Given the description of an element on the screen output the (x, y) to click on. 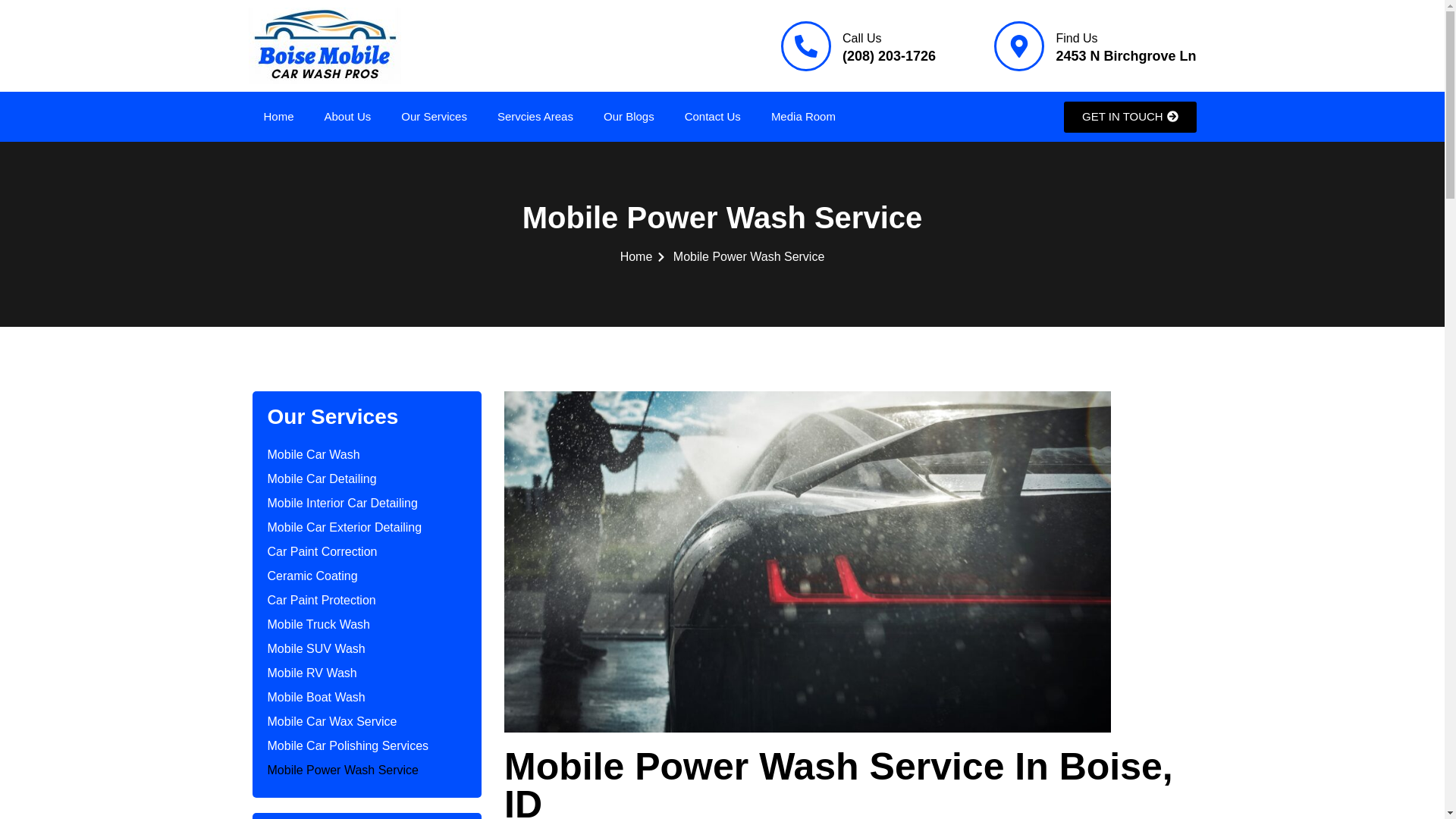
Servcies Areas (534, 116)
Home (278, 116)
About Us (347, 116)
Our Services (433, 116)
Call Us (862, 38)
Media Room (802, 116)
Find Us (1076, 38)
Our Blogs (628, 116)
Contact Us (712, 116)
